Given the description of an element on the screen output the (x, y) to click on. 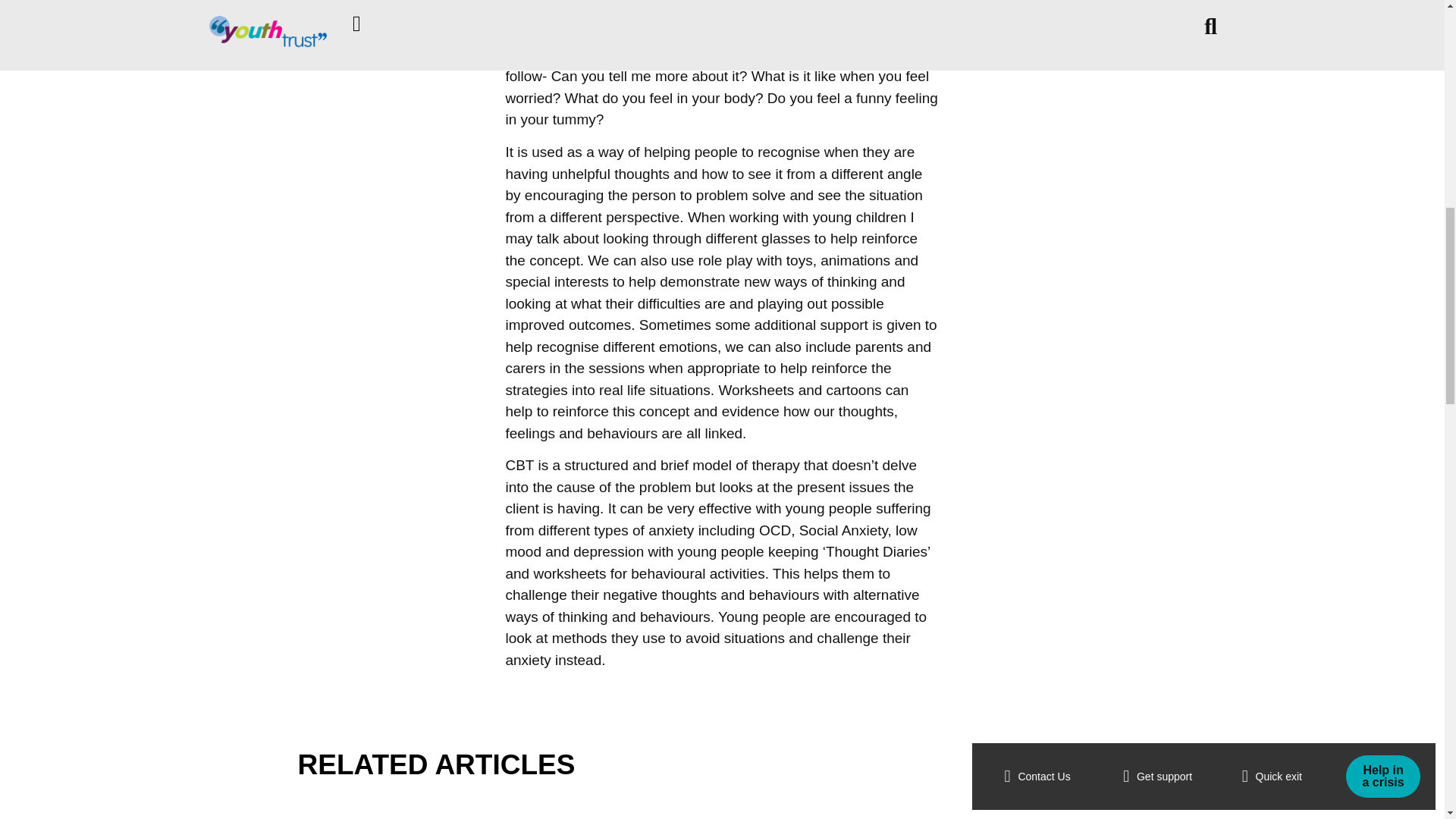
View all (1111, 765)
